Given the description of an element on the screen output the (x, y) to click on. 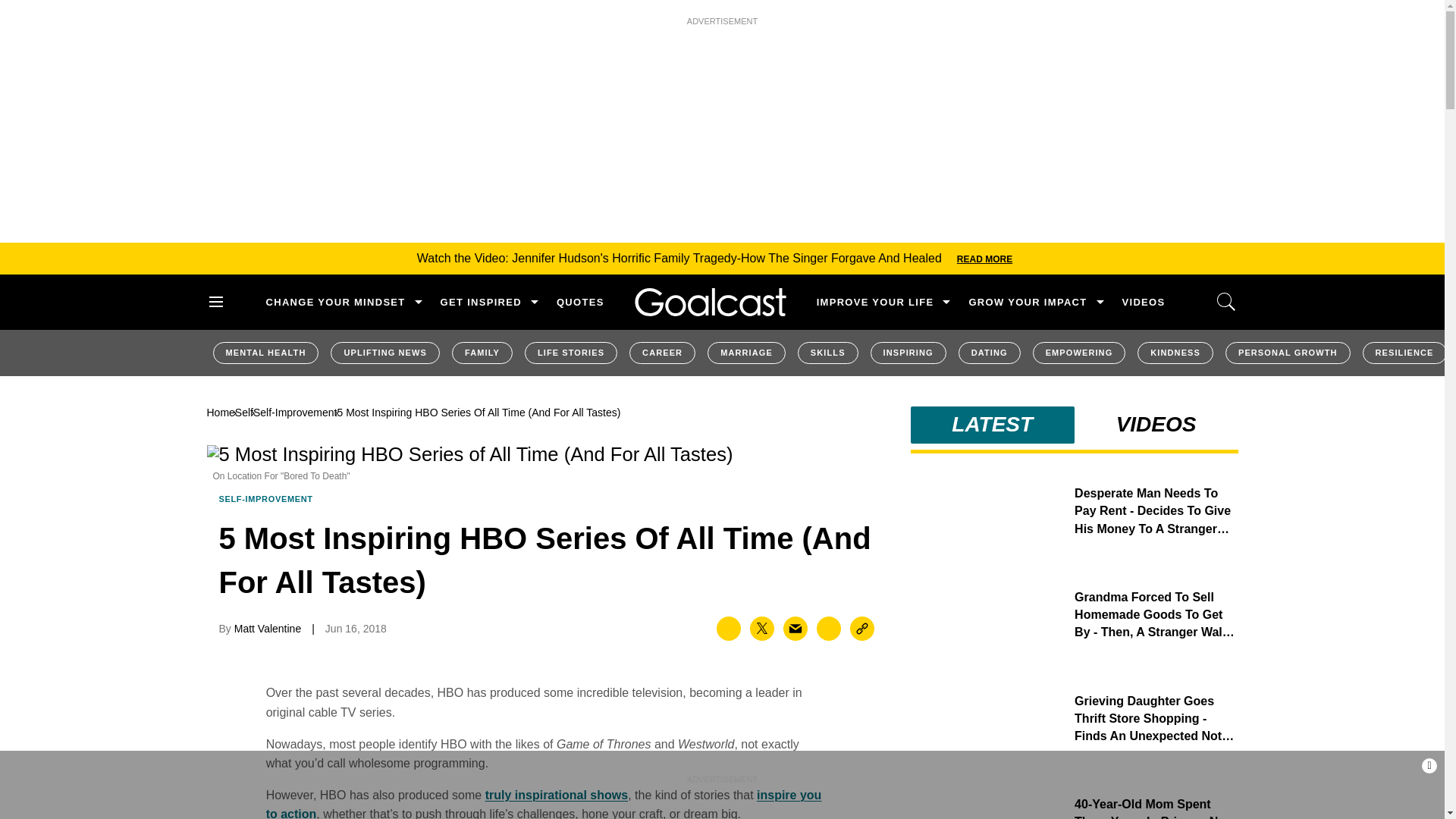
CHANGE YOUR MINDSET (334, 301)
IMPROVE YOUR LIFE (875, 301)
Copy this link to clipboard (862, 628)
VIDEOS (1144, 301)
GET INSPIRED (481, 301)
QUOTES (580, 301)
GROW YOUR IMPACT (1027, 301)
